Given the description of an element on the screen output the (x, y) to click on. 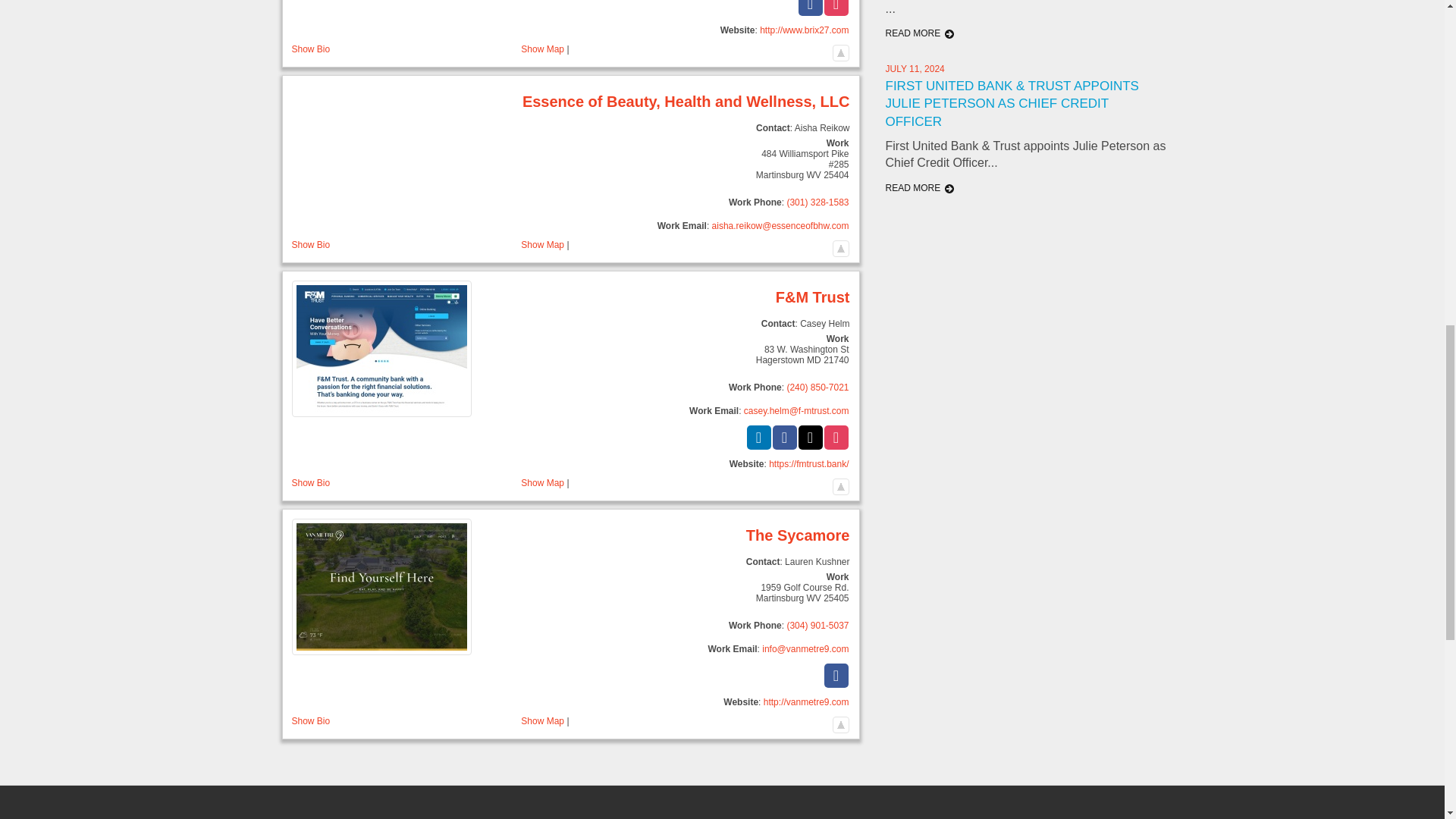
Return to top. (840, 50)
